Given the description of an element on the screen output the (x, y) to click on. 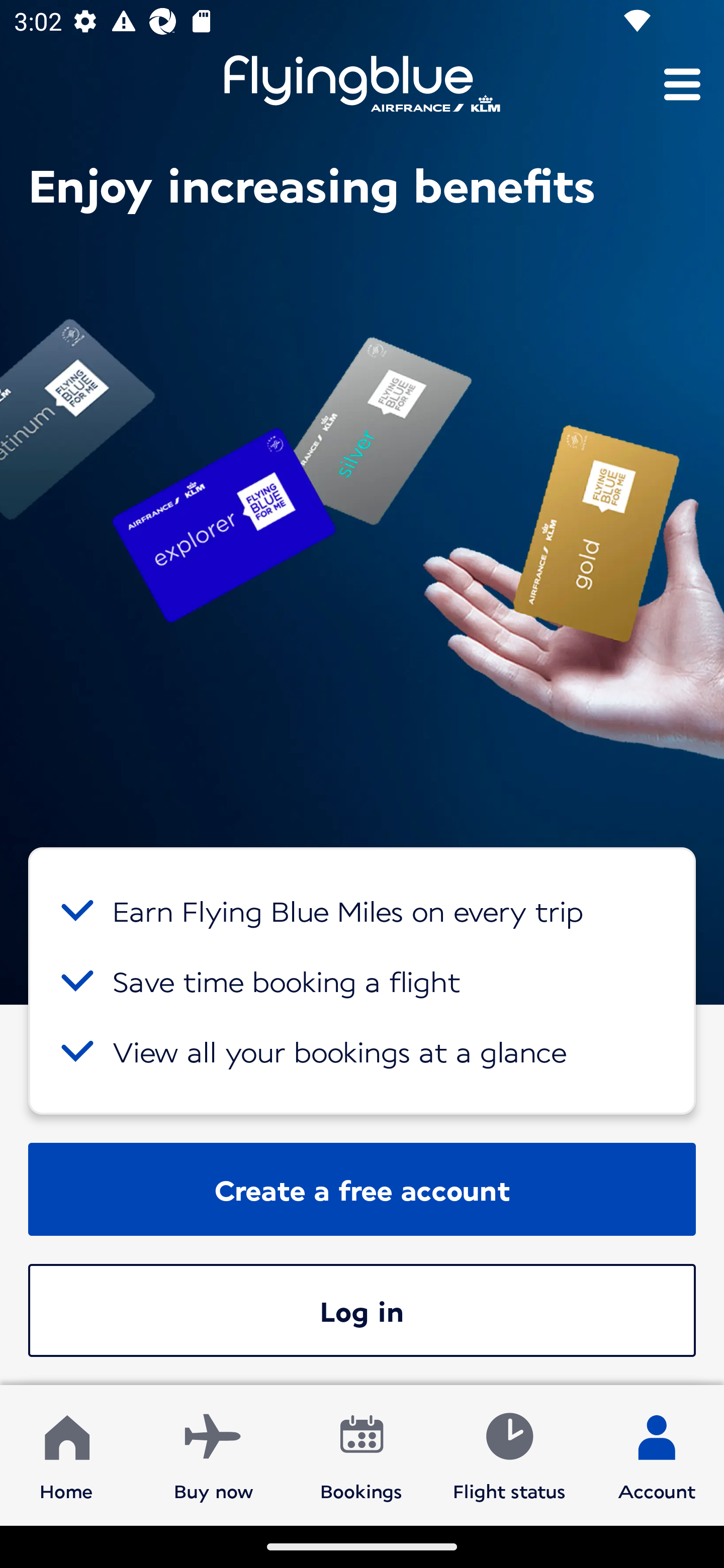
Create a free account (361, 1189)
Log in (361, 1309)
Home (66, 1454)
Buy now (213, 1454)
Bookings (361, 1454)
Flight status (509, 1454)
